Given the description of an element on the screen output the (x, y) to click on. 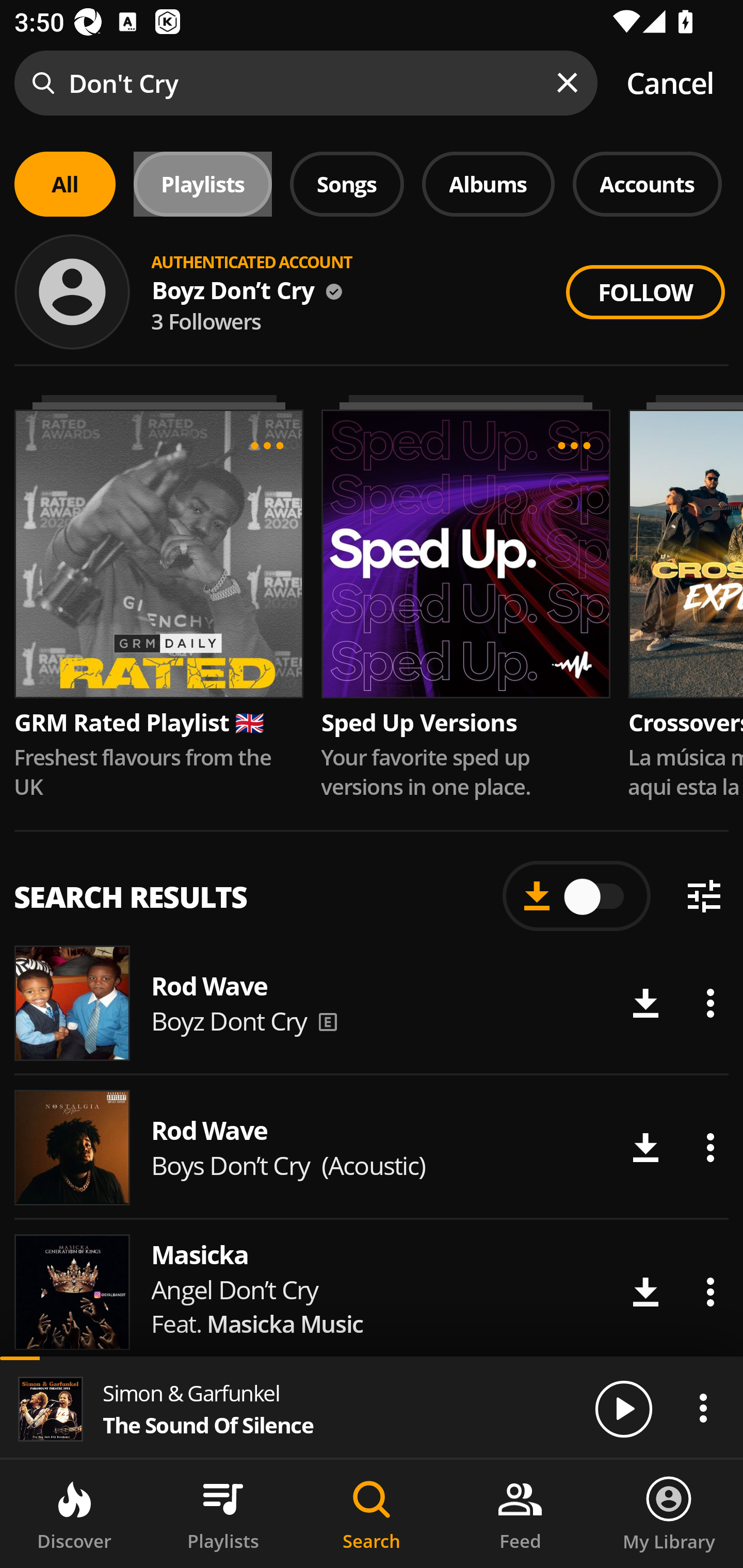
Don't Cry Cancel (371, 82)
Cancel (670, 82)
All (64, 184)
Playlists (202, 184)
Songs (346, 184)
Albums (488, 184)
Accounts (647, 184)
FOLLOW Follow/Unfollow (645, 291)
Download (644, 1003)
Actions (710, 1003)
Download (644, 1147)
Actions (710, 1147)
Download (644, 1291)
Actions (710, 1291)
Actions (703, 1407)
Play/Pause (623, 1408)
Discover (74, 1513)
Playlists (222, 1513)
Search (371, 1513)
Feed (519, 1513)
My Library (668, 1513)
